Given the description of an element on the screen output the (x, y) to click on. 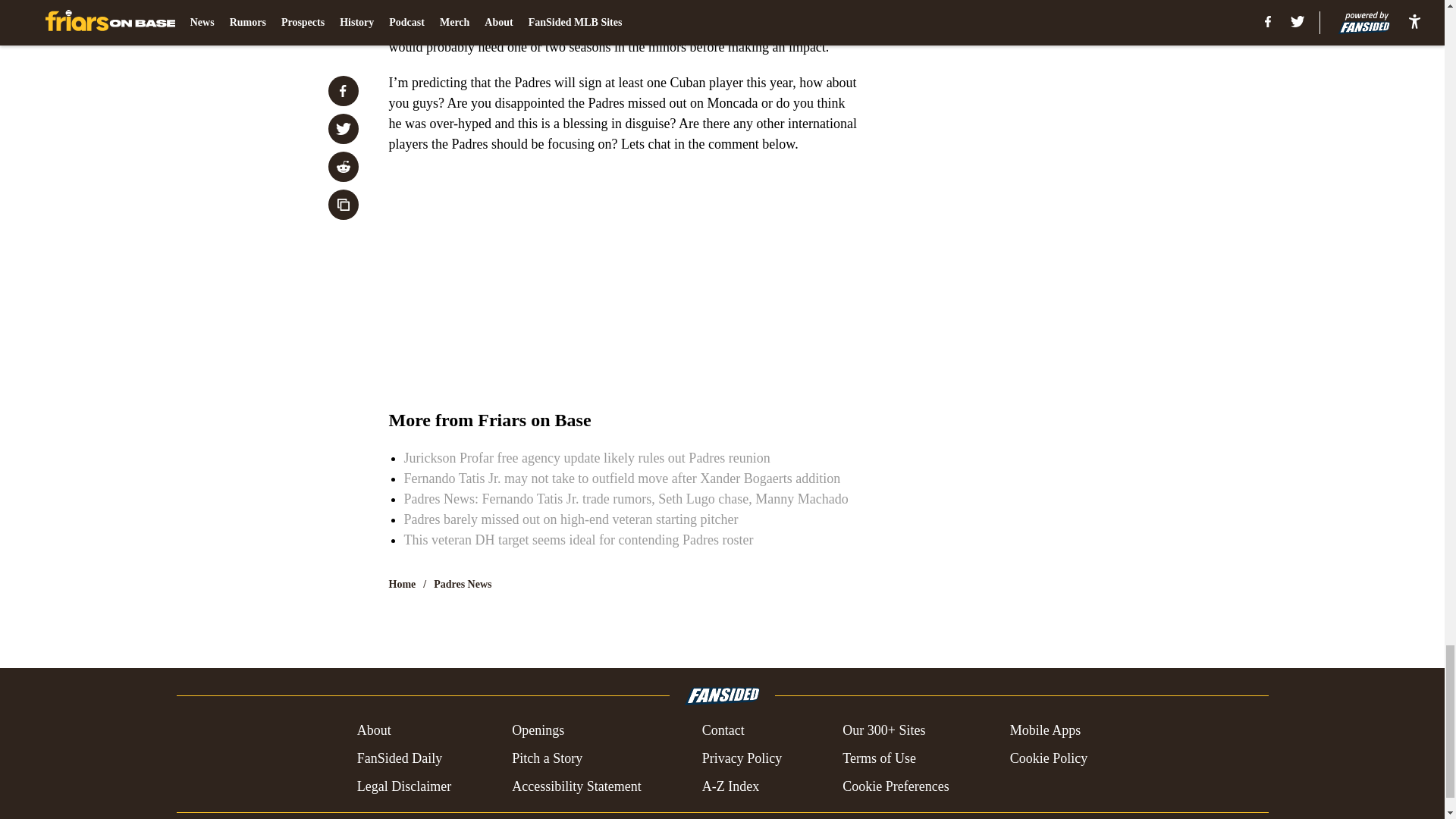
Padres News (462, 584)
Contact (722, 730)
Home (401, 584)
About (373, 730)
Openings (538, 730)
